Given the description of an element on the screen output the (x, y) to click on. 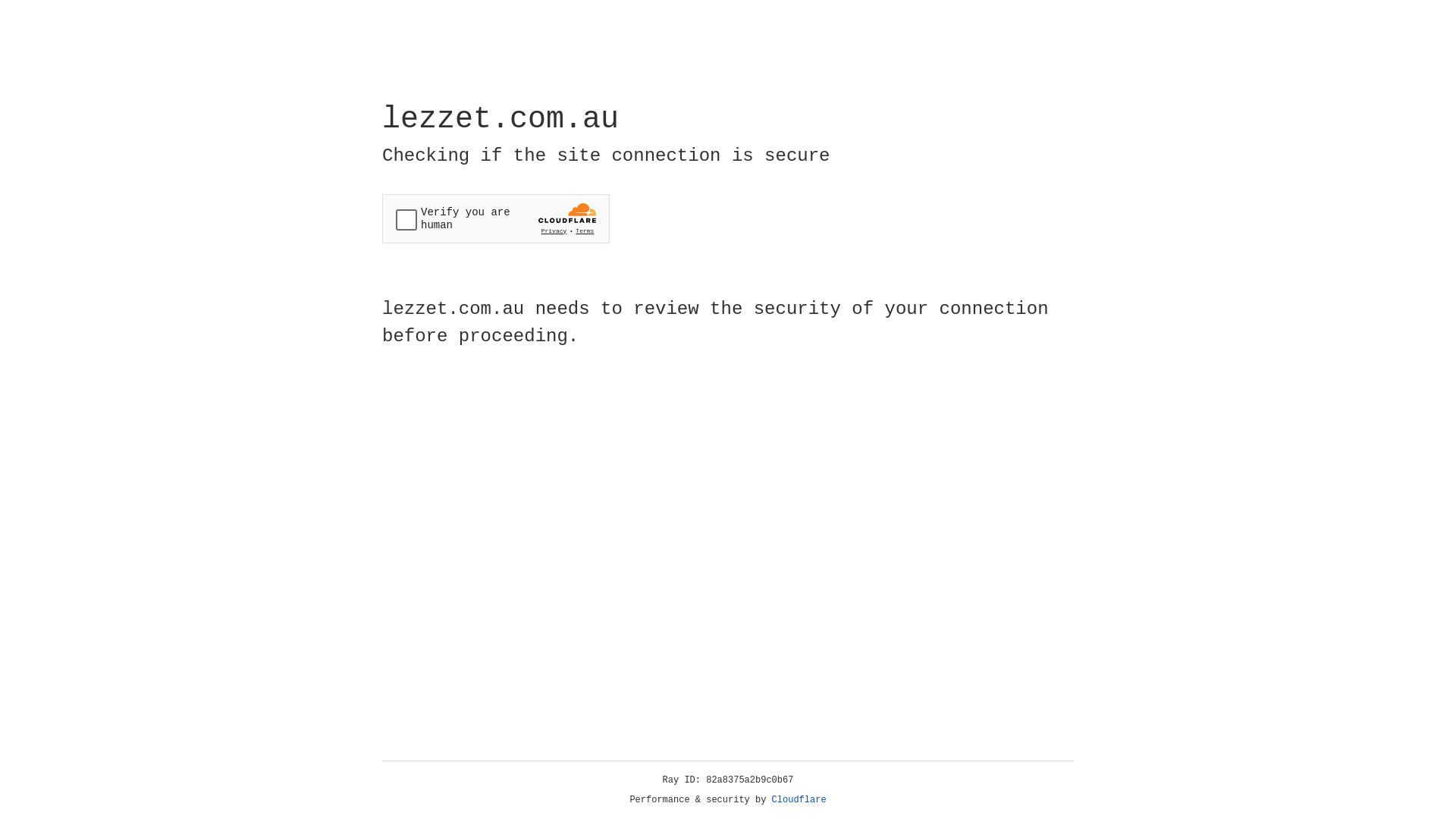
Widget containing a Cloudflare security challenge Element type: hover (495, 218)
Cloudflare Element type: text (798, 799)
